Given the description of an element on the screen output the (x, y) to click on. 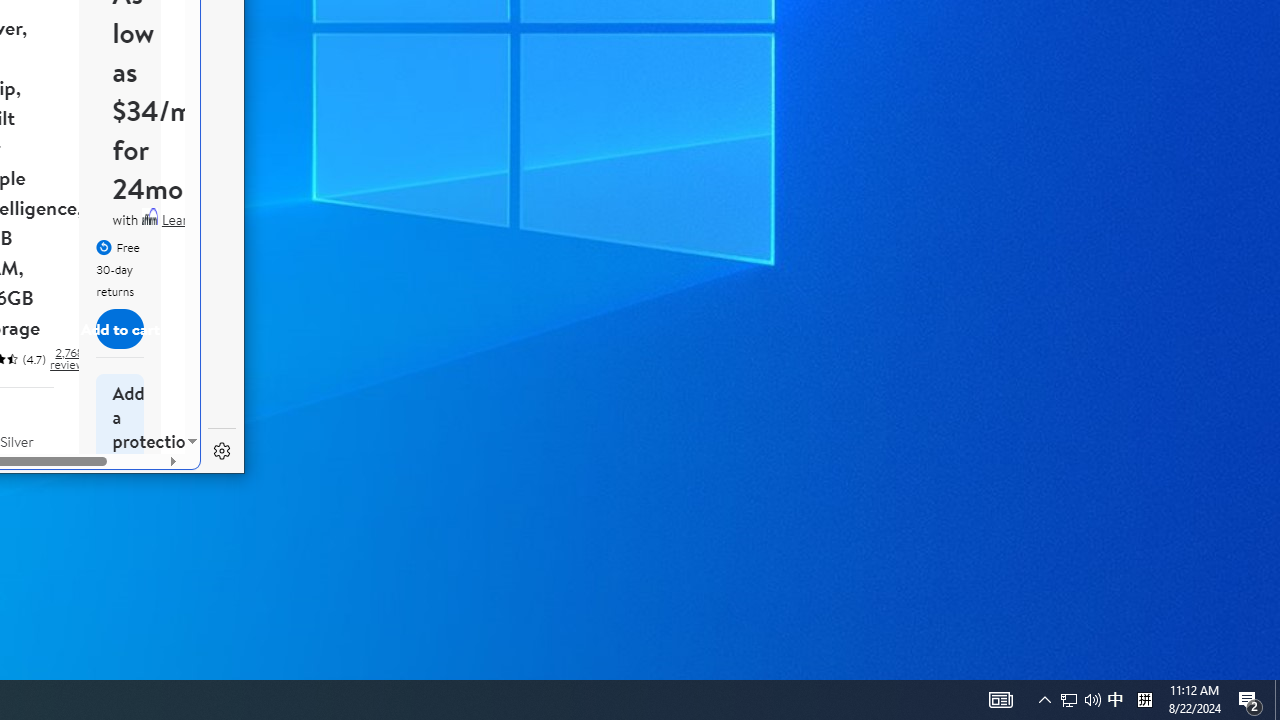
Affirm (149, 216)
Notification Chevron (1044, 699)
Silver (28, 483)
Learn how (192, 220)
Silver selected, Silver, $649.00 (28, 498)
Show desktop (1277, 699)
Q2790: 100% (1092, 699)
Action Center, 2 new notifications (1115, 699)
User Promoted Notification Area (1250, 699)
Tray Input Indicator - Chinese (Simplified, China) (1080, 699)
